Given the description of an element on the screen output the (x, y) to click on. 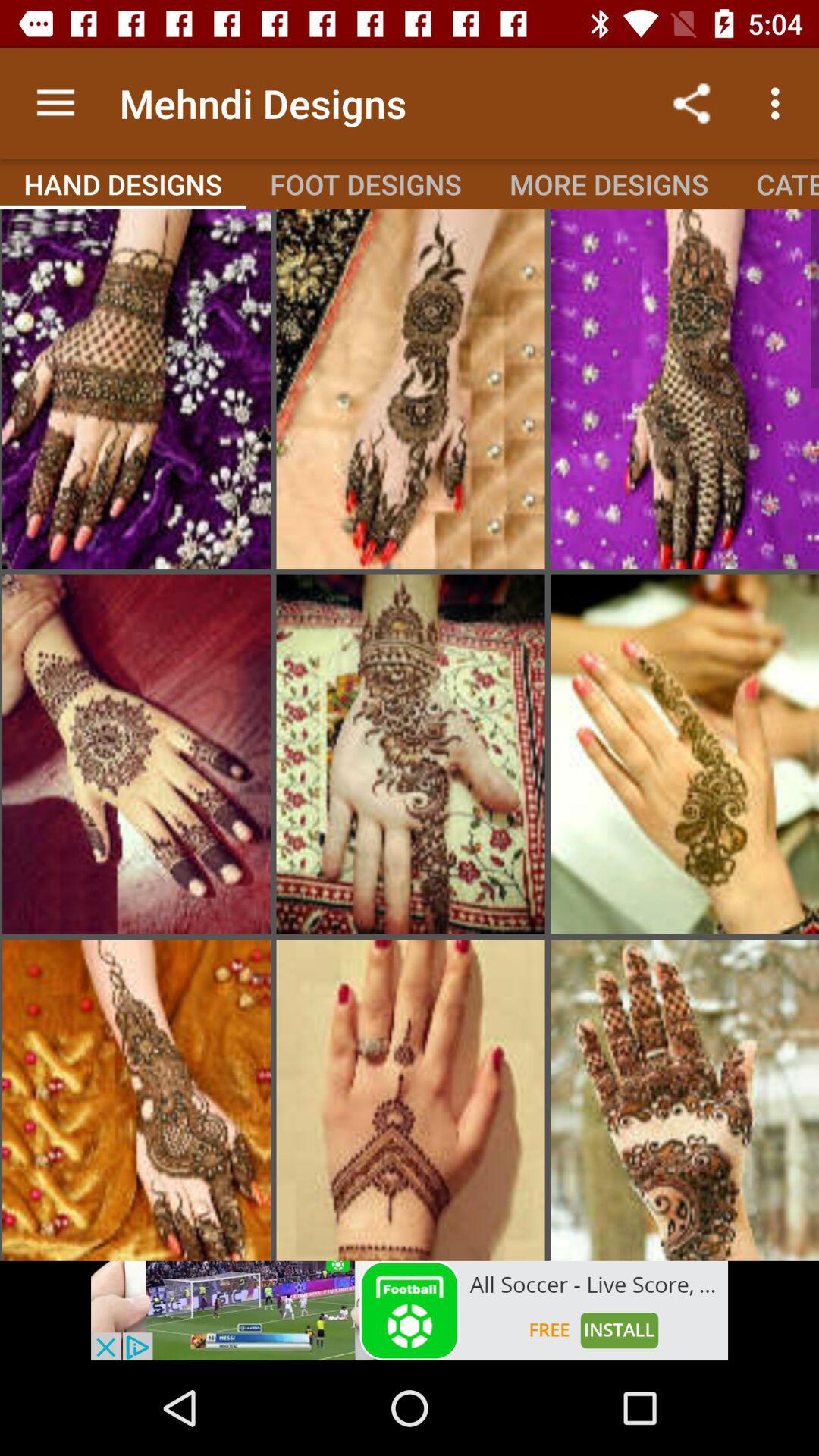
enlarge image (136, 753)
